Given the description of an element on the screen output the (x, y) to click on. 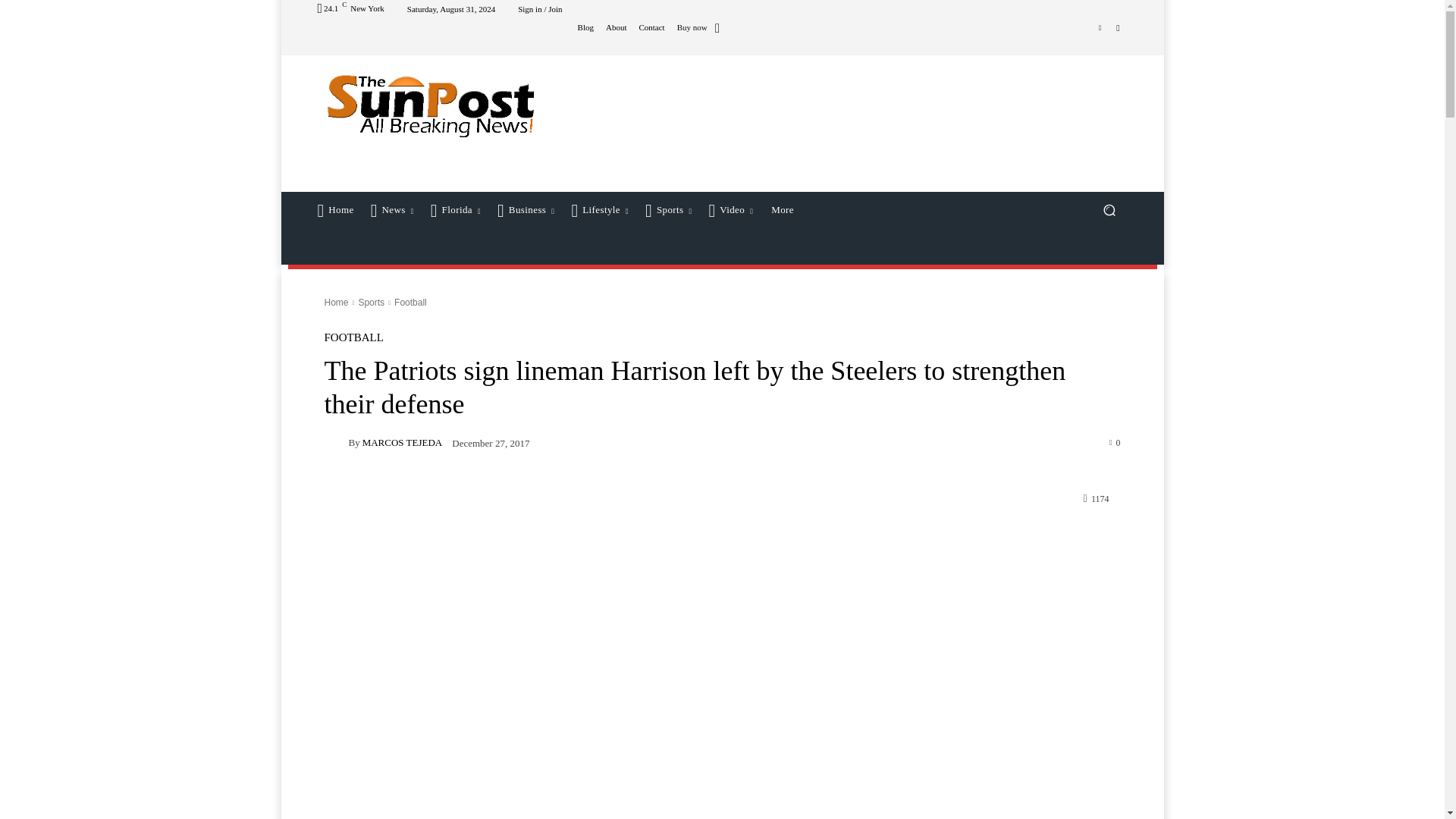
Youtube (1117, 27)
Vimeo (1099, 27)
Contact (651, 27)
About (616, 27)
Blog (586, 27)
